Given the description of an element on the screen output the (x, y) to click on. 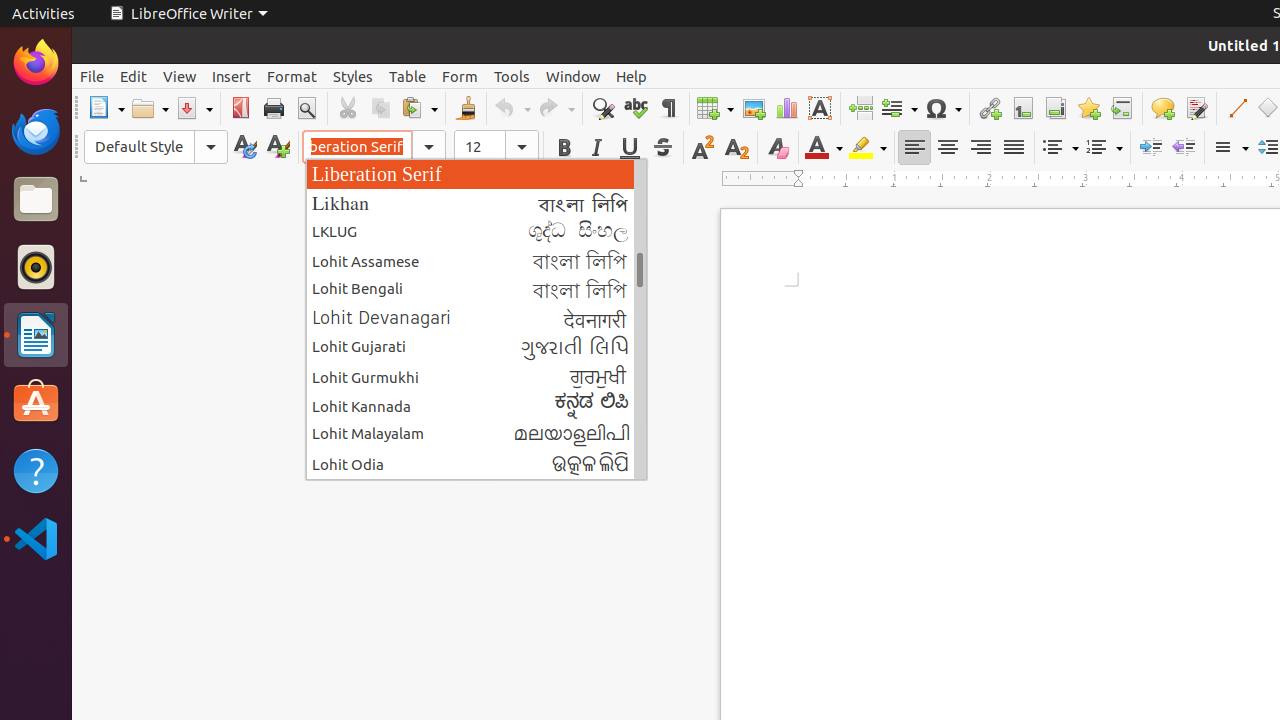
Window Element type: menu (573, 76)
Text Box Element type: push-button (819, 108)
Left Element type: toggle-button (914, 147)
Styles Element type: menu (353, 76)
Field Element type: push-button (899, 108)
